Given the description of an element on the screen output the (x, y) to click on. 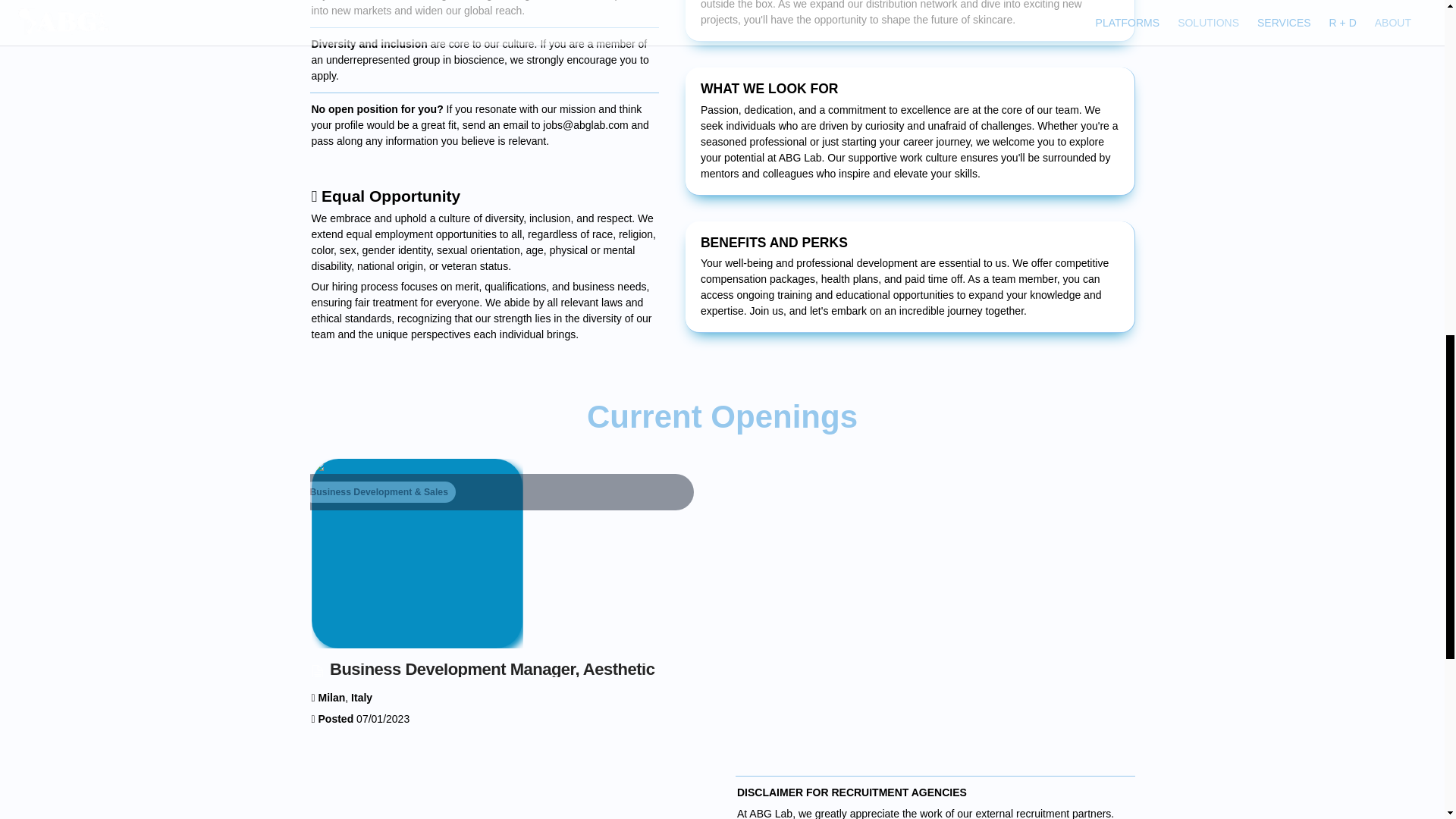
Business Development Manager, Aesthetic (508, 571)
